Given the description of an element on the screen output the (x, y) to click on. 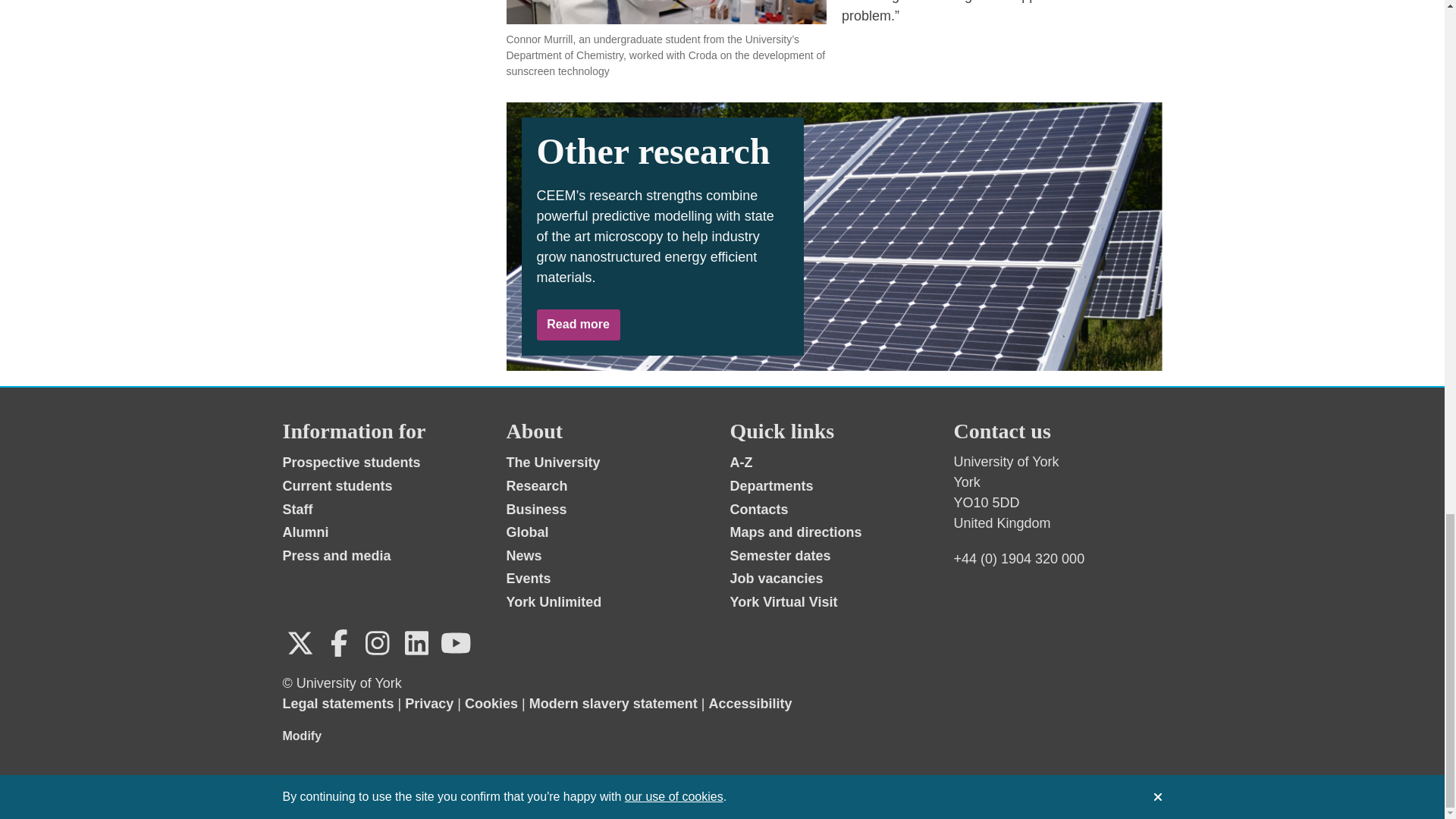
Follow us on X (299, 642)
Prospective students (351, 462)
The University (552, 462)
Alumni (305, 531)
Follow us on Instagram (376, 642)
Current students (336, 485)
Follow us on LinkedIn (415, 642)
Press and media (336, 555)
Staff (297, 509)
Read more (578, 324)
